Given the description of an element on the screen output the (x, y) to click on. 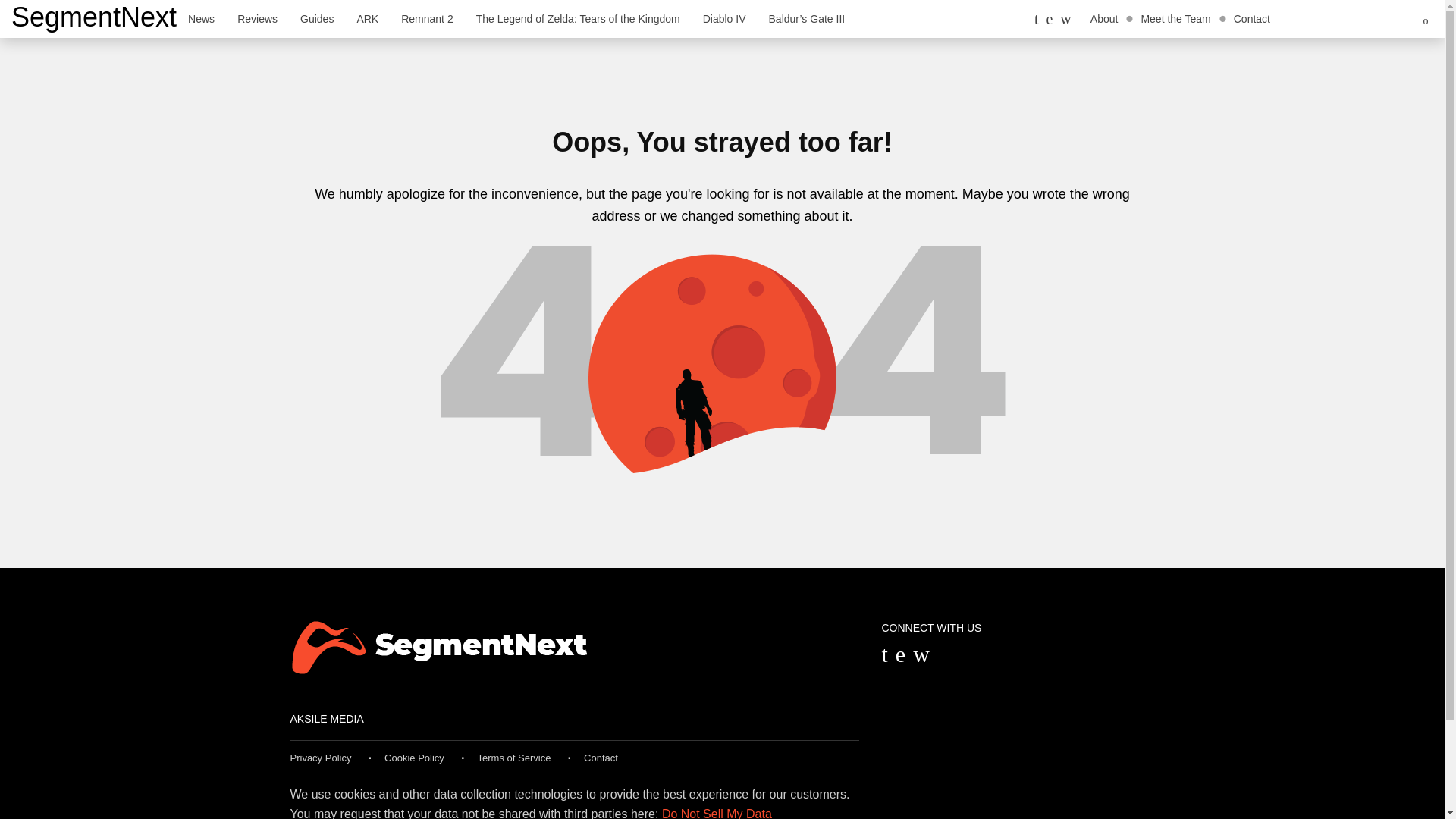
Guides (316, 18)
Remnant 2 (427, 18)
Meet the Team (1175, 18)
Contact (1252, 18)
The Legend of Zelda: Tears of the Kingdom (577, 18)
Reviews (256, 18)
Guides (316, 18)
Diablo IV (724, 18)
Diablo IV (724, 18)
News (200, 18)
